Given the description of an element on the screen output the (x, y) to click on. 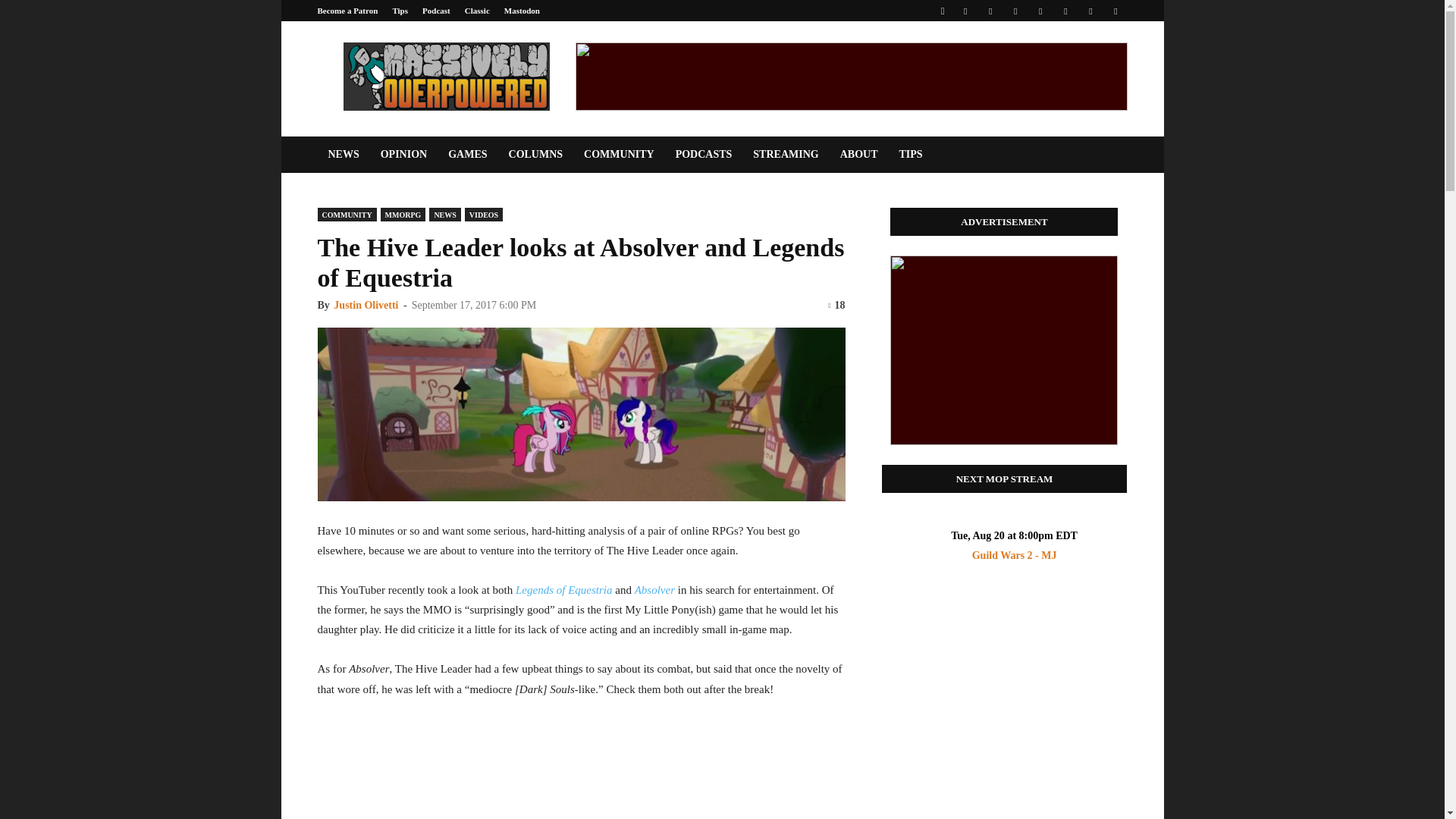
Twitch (1065, 10)
Twitter (1090, 10)
RSS (1040, 10)
MassivelyOP.com (445, 76)
Youtube (1114, 10)
Facebook (964, 10)
Patreon (989, 10)
Paypal (1015, 10)
